Given the description of an element on the screen output the (x, y) to click on. 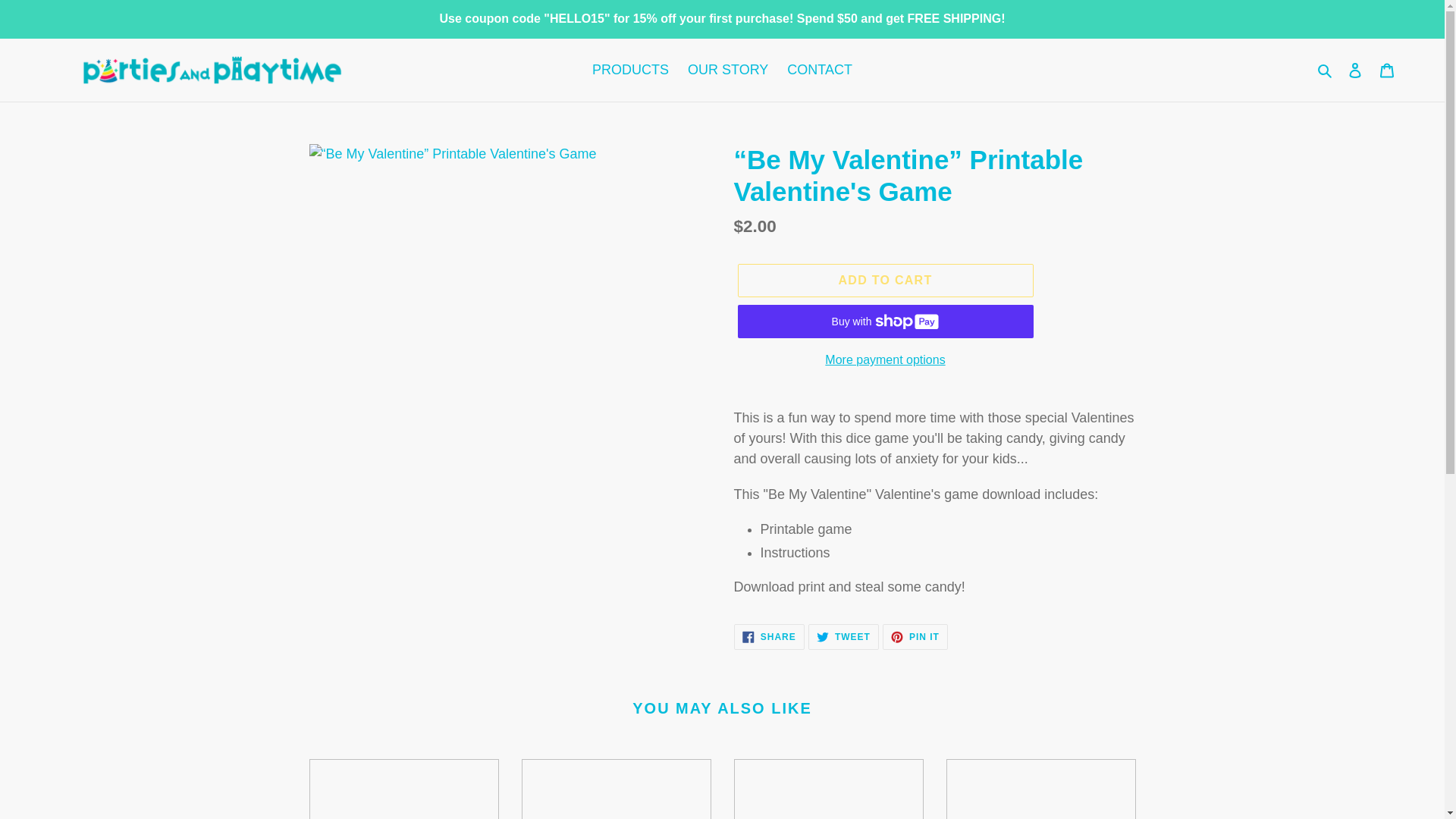
OUR STORY (727, 69)
Cart (1387, 69)
PRODUCTS (631, 69)
Search (1326, 69)
More payment options (884, 360)
ADD TO CART (769, 637)
Log in (884, 280)
CONTACT (1355, 69)
